Given the description of an element on the screen output the (x, y) to click on. 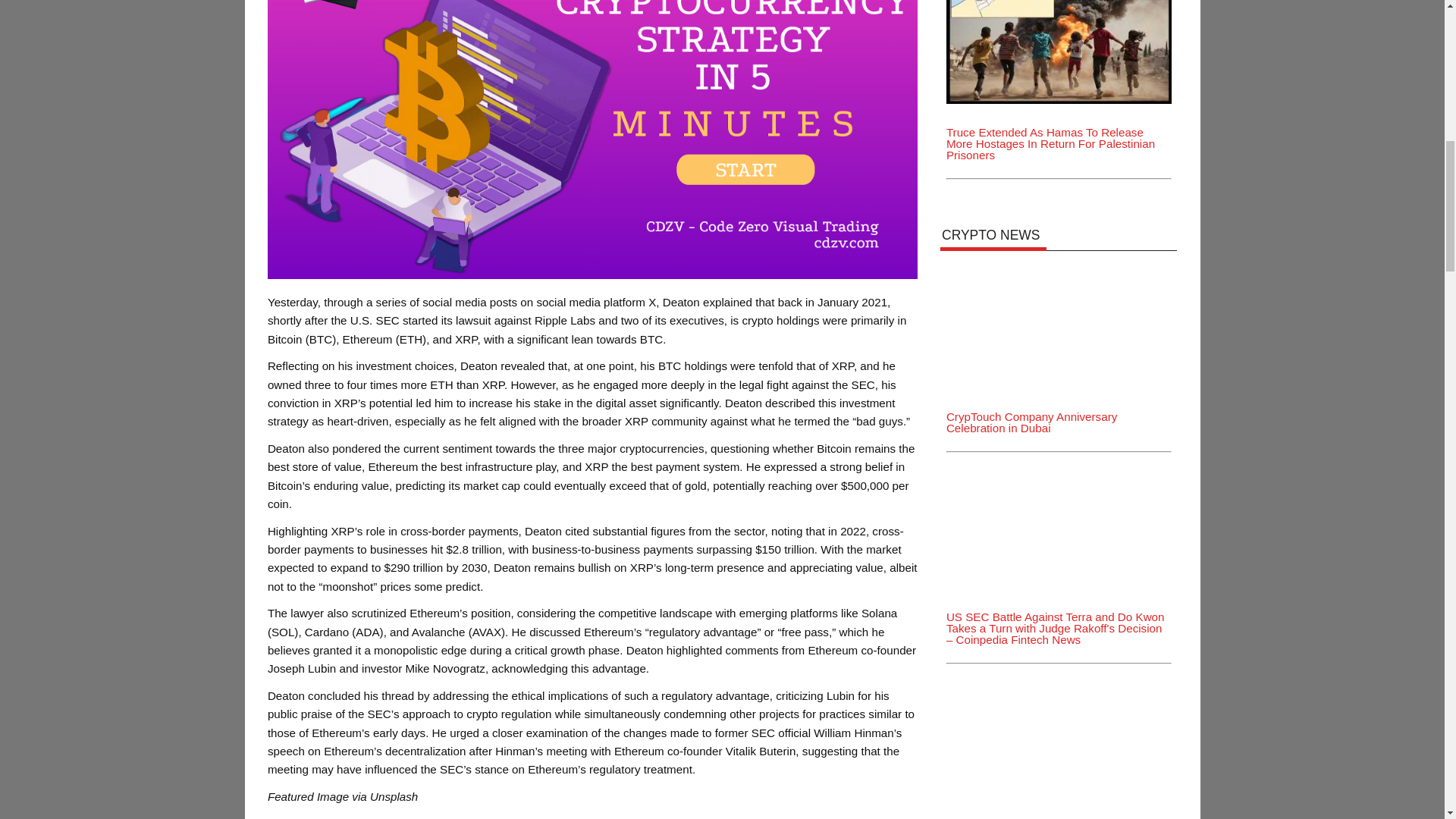
Read Full Article (352, 818)
CrypTouch Company Anniversary Celebration in Dubai (1059, 324)
CrypTouch Company Anniversary Celebration in Dubai (1059, 267)
CrypTouch Company Anniversary Celebration in Dubai (1031, 422)
